Given the description of an element on the screen output the (x, y) to click on. 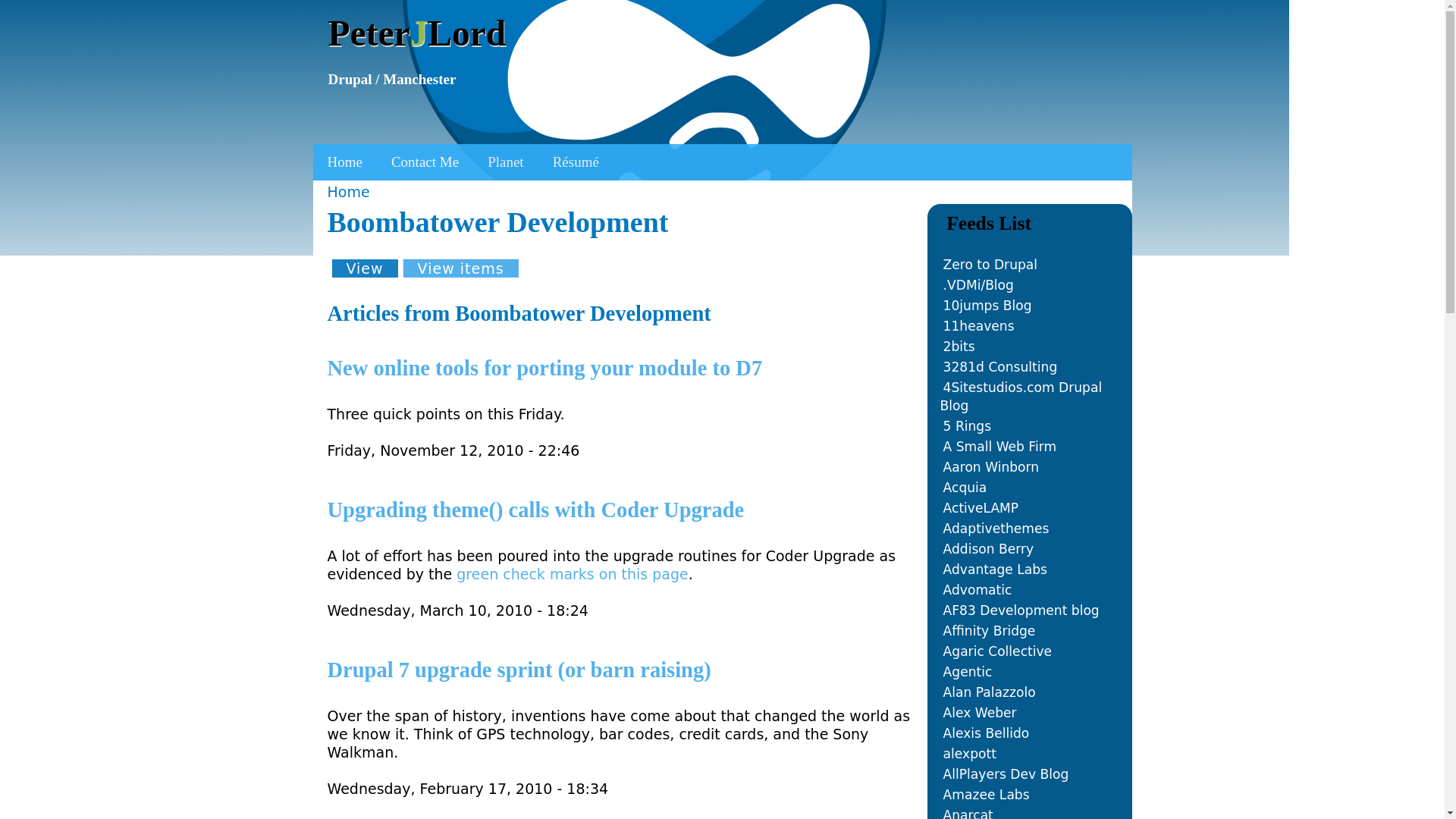
Contact Me (425, 162)
Acquia (965, 487)
3281d Consulting (1000, 366)
10jumps Blog (987, 305)
New online tools for porting your module to D7 (544, 368)
Advomatic (977, 589)
Addison Berry (988, 548)
Home (344, 162)
ActiveLAMP (981, 507)
Home (416, 33)
